Given the description of an element on the screen output the (x, y) to click on. 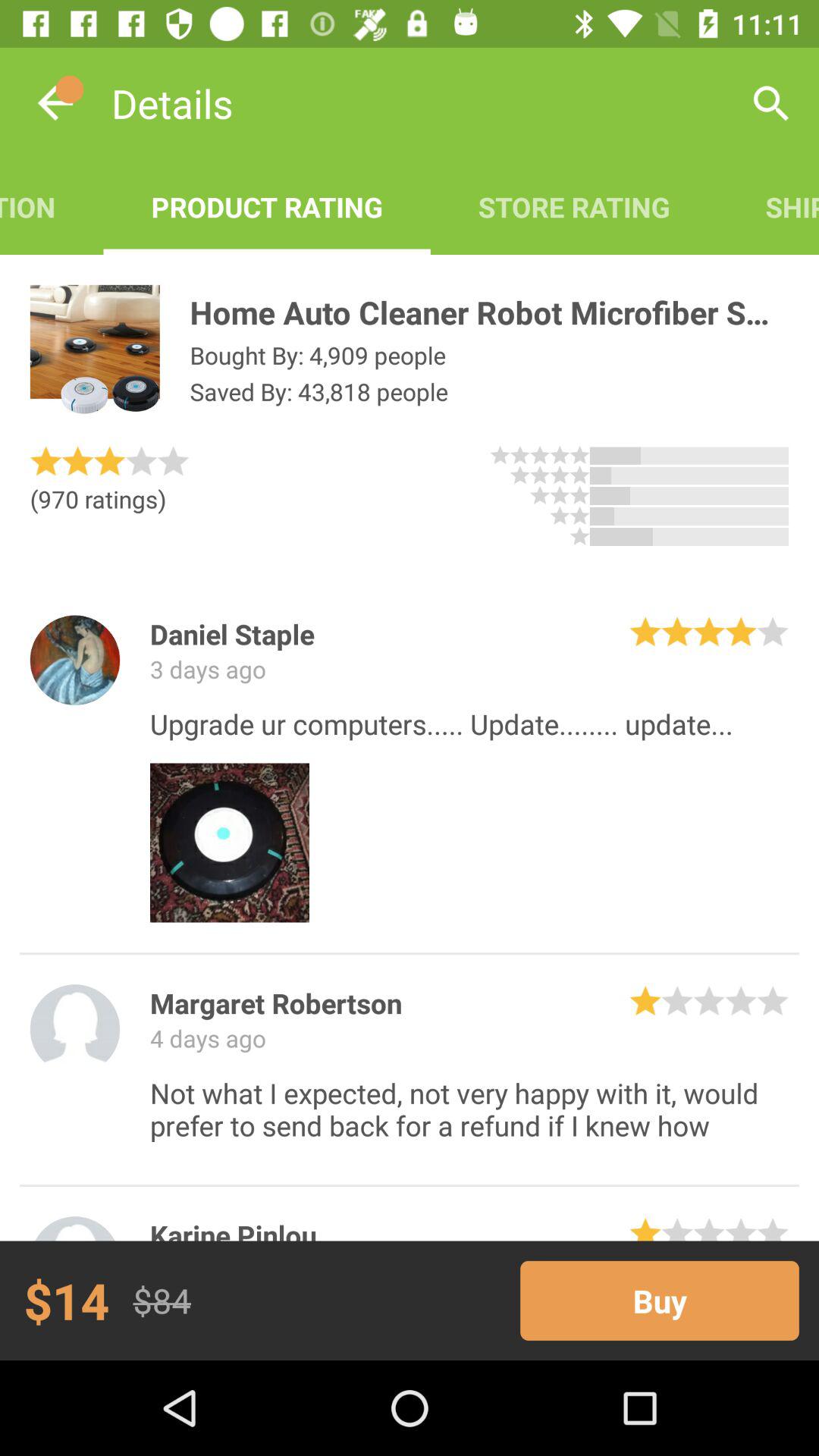
turn off item above home auto cleaner item (573, 206)
